Given the description of an element on the screen output the (x, y) to click on. 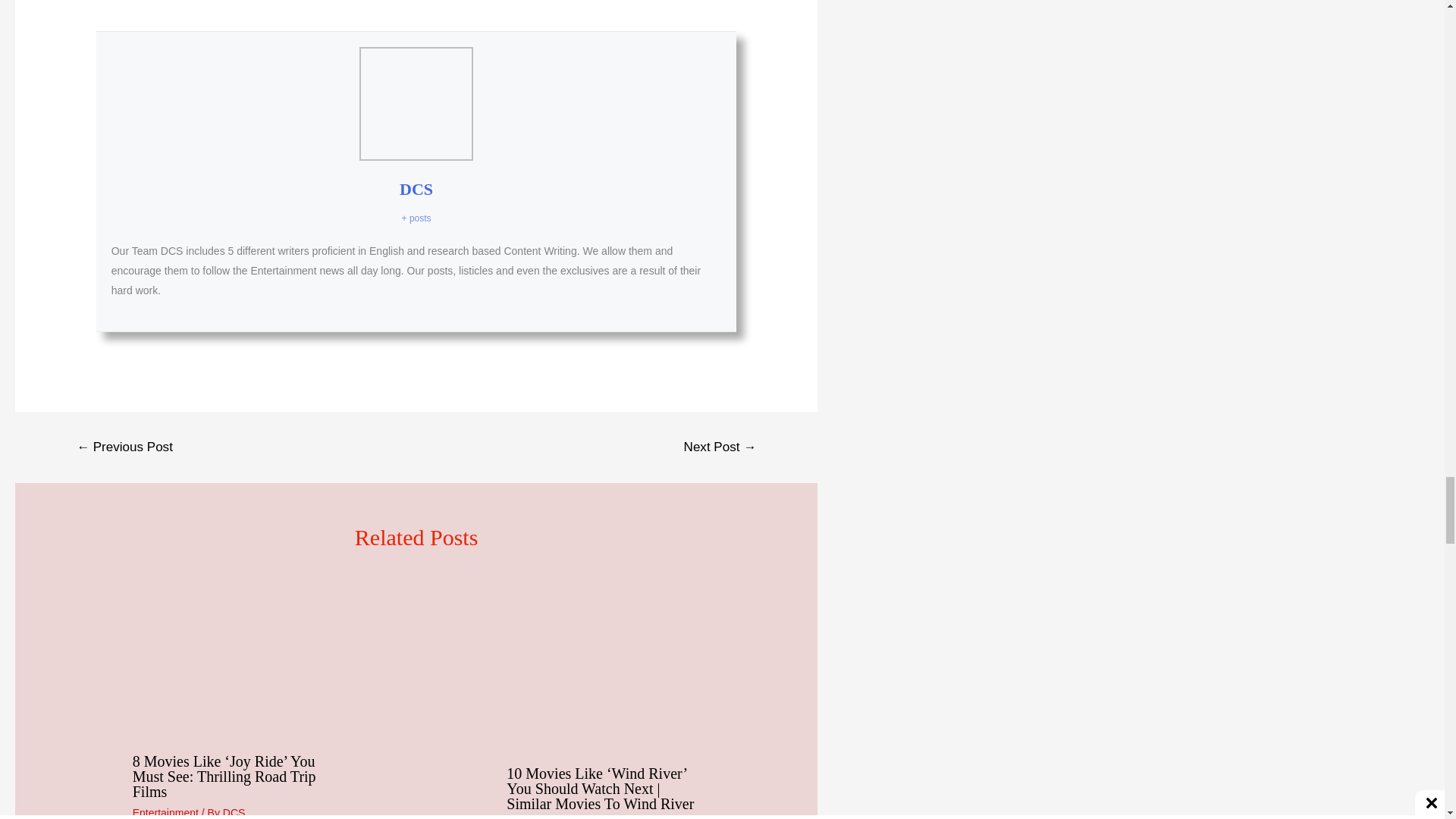
DCS (415, 189)
View all posts by DCS (234, 812)
